Given the description of an element on the screen output the (x, y) to click on. 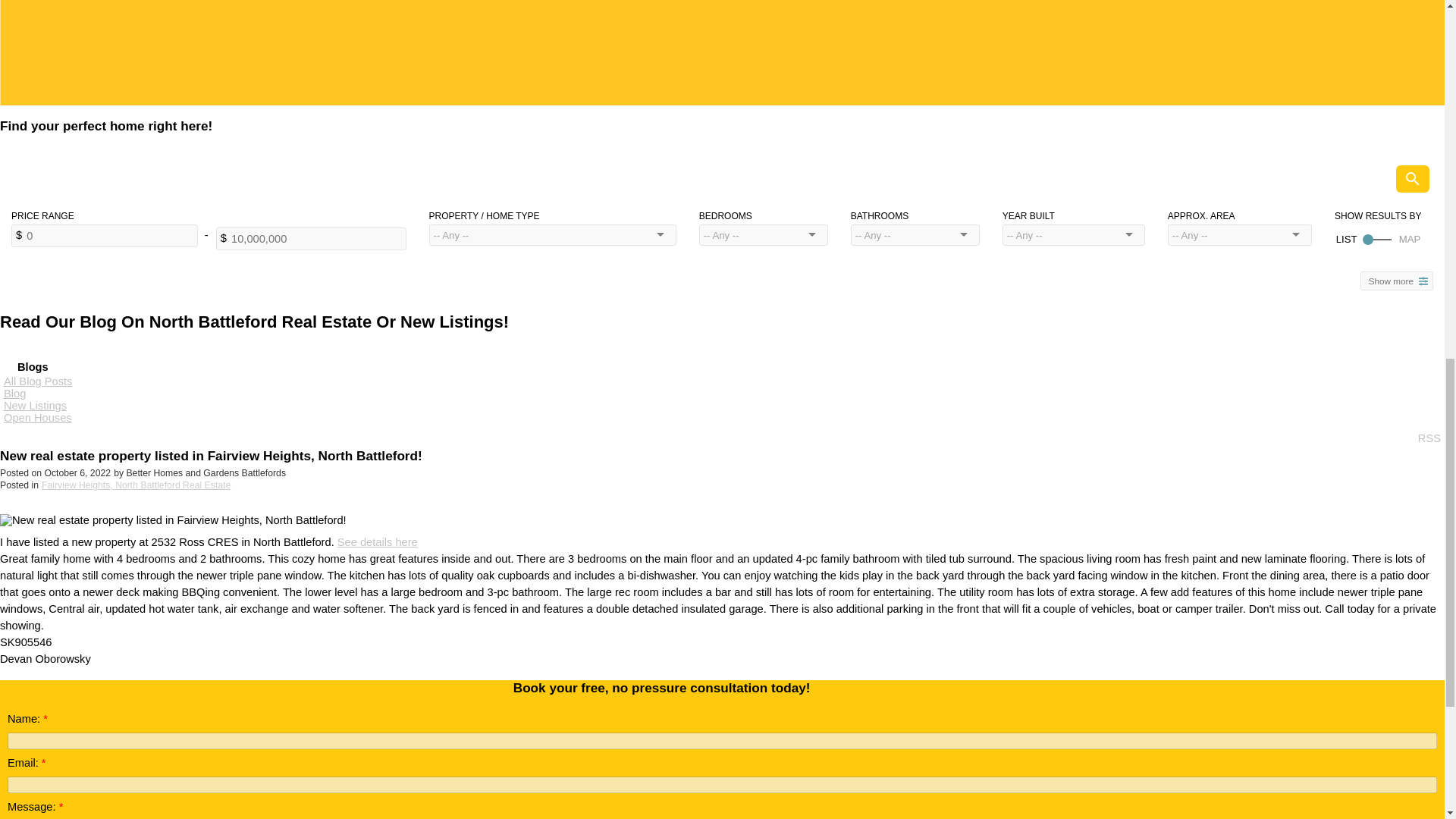
Fairview Heights, North Battleford Real Estate (136, 484)
Open Houses (37, 417)
Blog (15, 393)
See details here (377, 541)
Show more (1395, 280)
All Blog Posts (37, 381)
New Listings (35, 405)
